Given the description of an element on the screen output the (x, y) to click on. 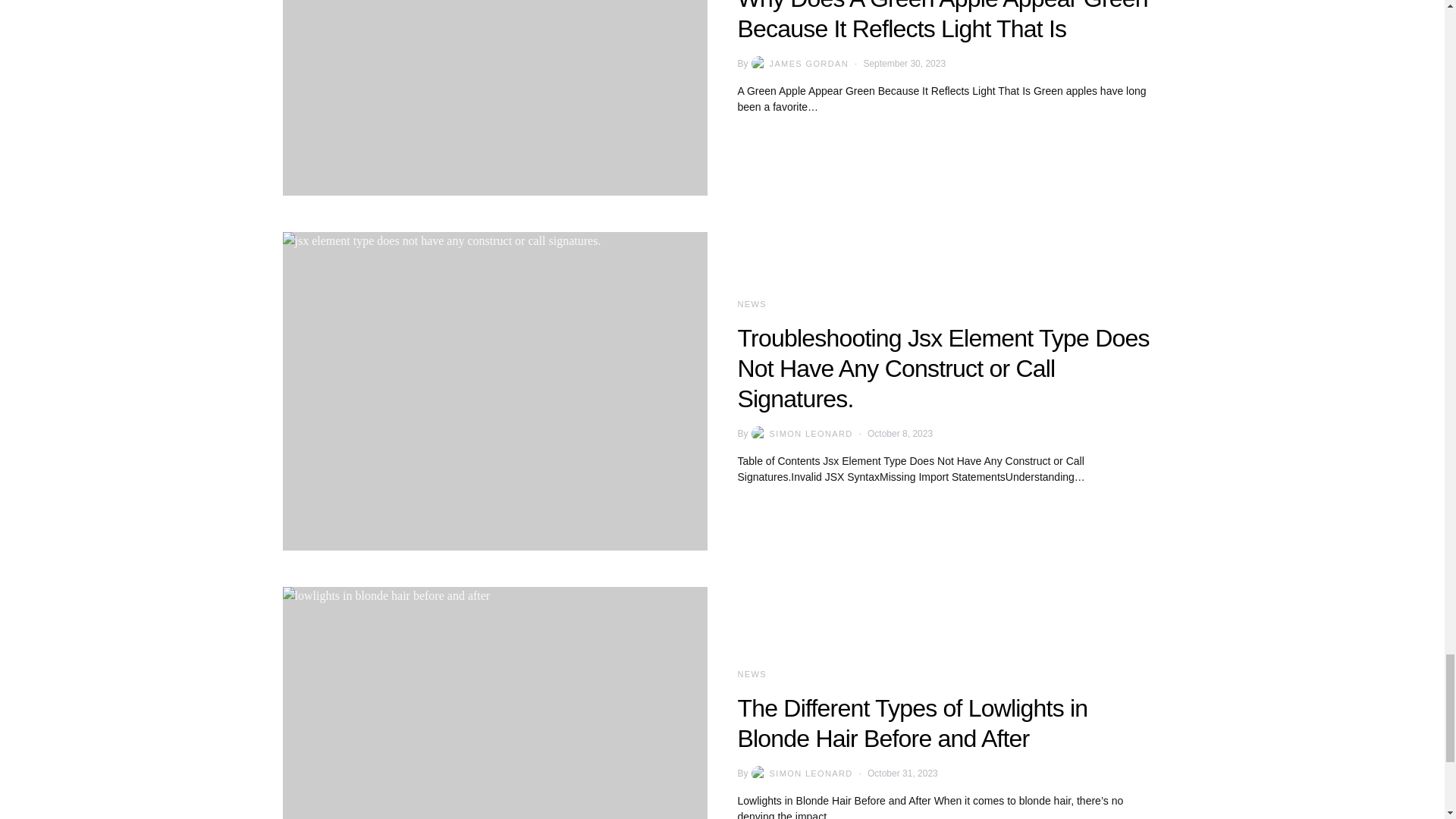
View all posts by Simon Leonard (800, 433)
View all posts by James Gordan (798, 63)
View all posts by Simon Leonard (800, 773)
